Given the description of an element on the screen output the (x, y) to click on. 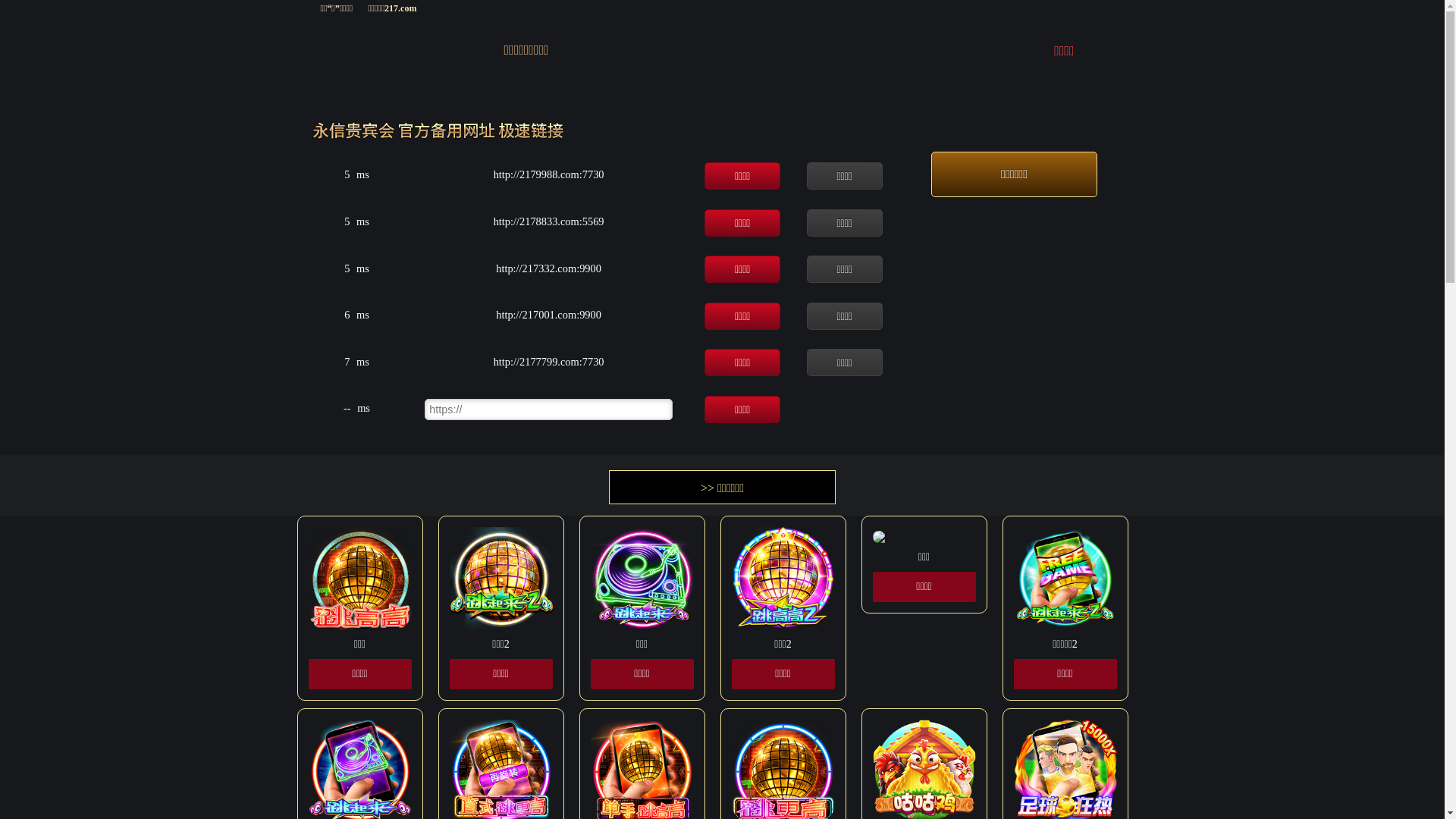
217 Element type: text (377, 46)
